Given the description of an element on the screen output the (x, y) to click on. 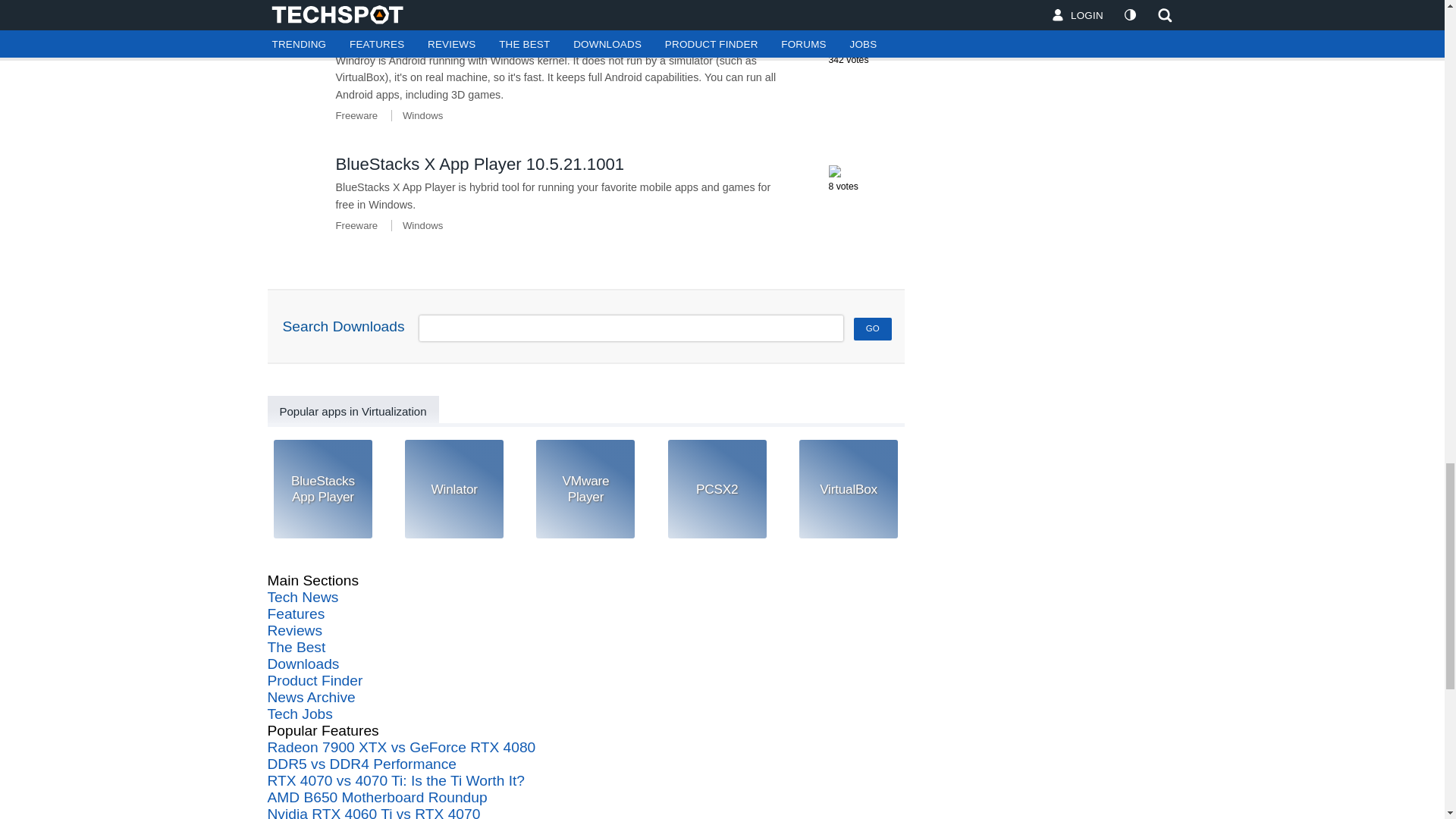
4.3 stars out of 5 (834, 43)
4.8 stars out of 5 (834, 171)
Go (872, 328)
